Given the description of an element on the screen output the (x, y) to click on. 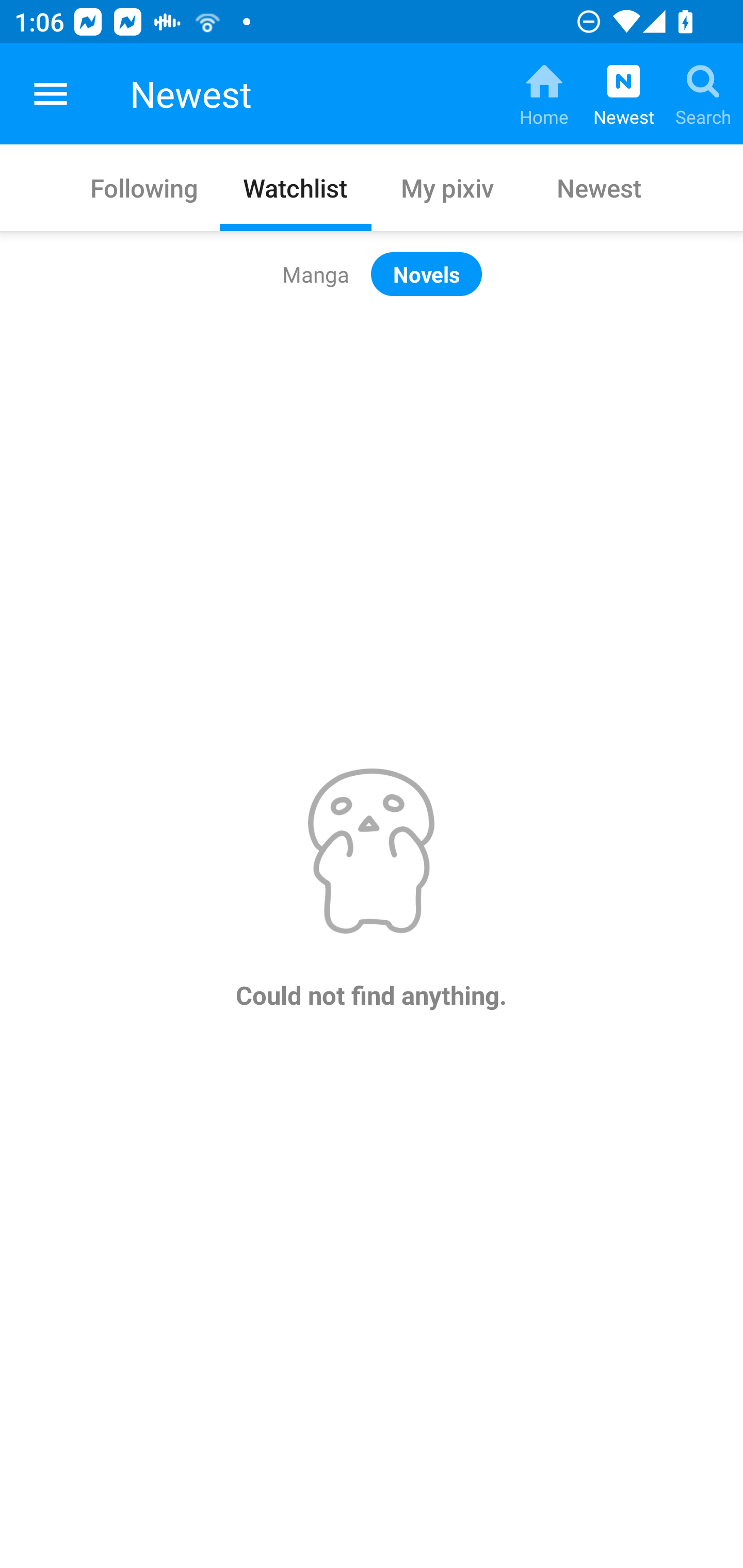
pixiv (50, 93)
Home (543, 93)
Search (703, 93)
Following (143, 187)
My pixiv (447, 187)
Newest (598, 187)
Manga (315, 274)
Novels (426, 274)
